Given the description of an element on the screen output the (x, y) to click on. 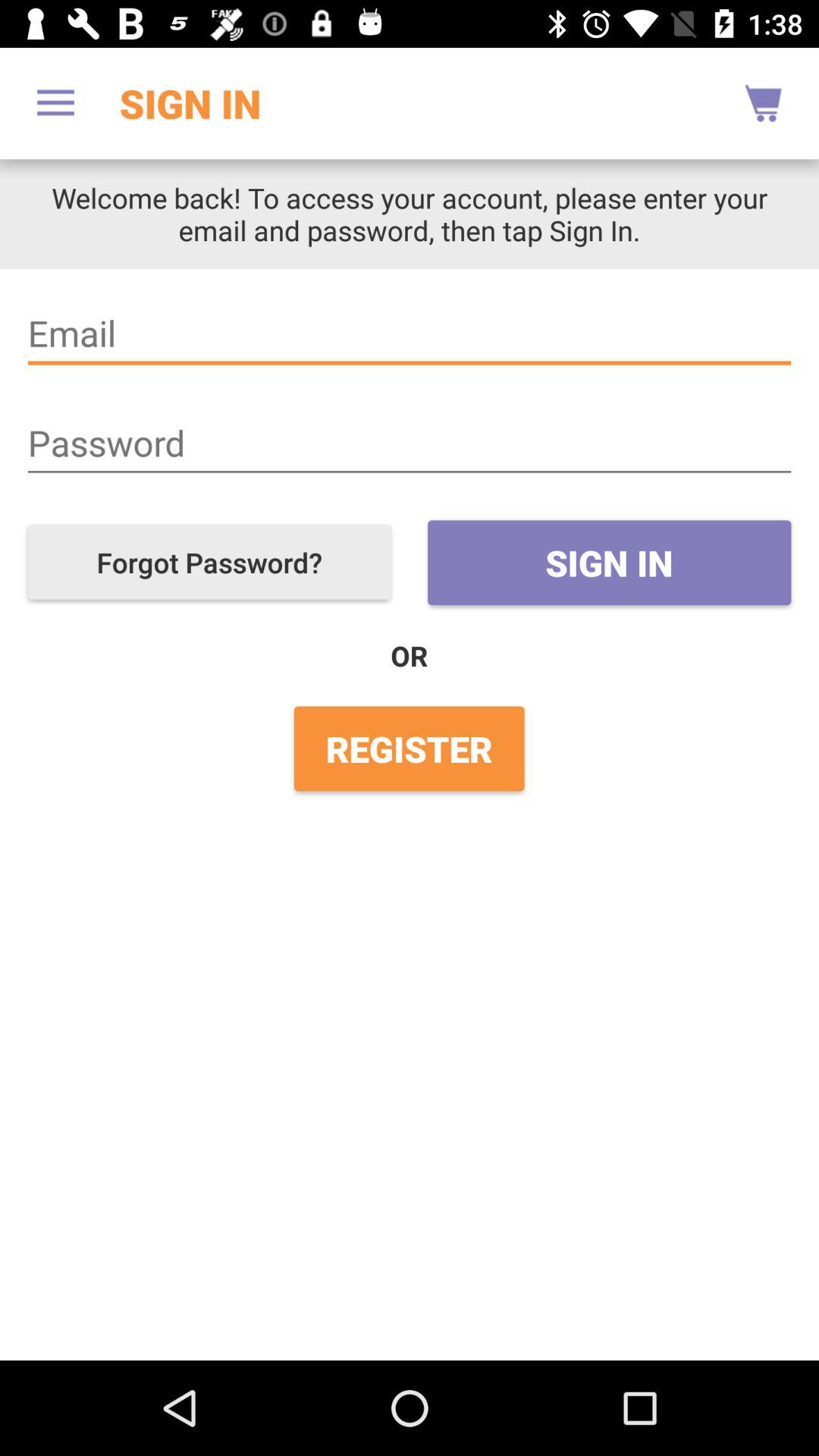
scroll to register (409, 748)
